Given the description of an element on the screen output the (x, y) to click on. 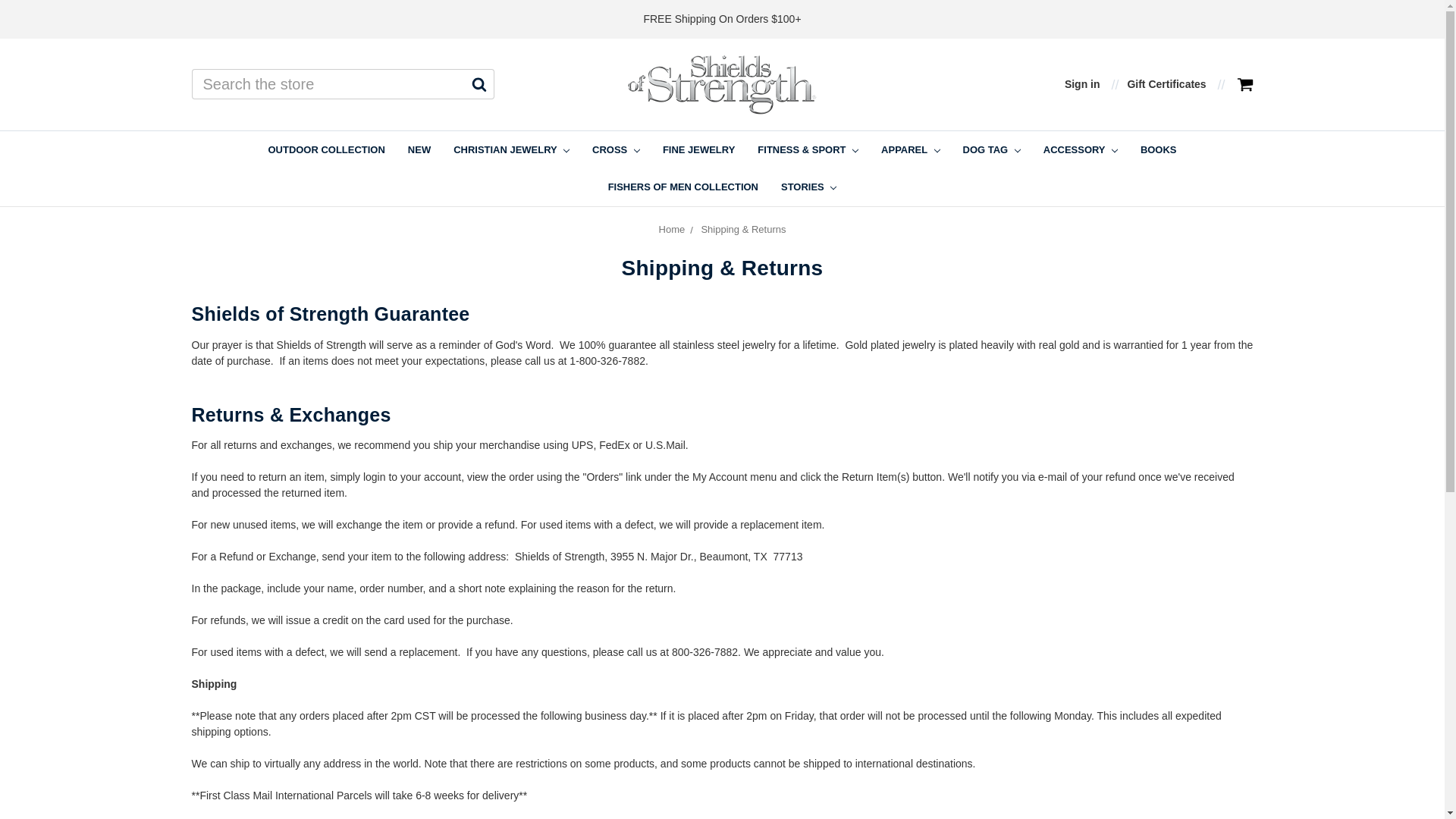
Sign in (1082, 84)
Shields of Strength (721, 84)
Gift Certificates (1166, 84)
Search (479, 83)
Search (479, 83)
